Given the description of an element on the screen output the (x, y) to click on. 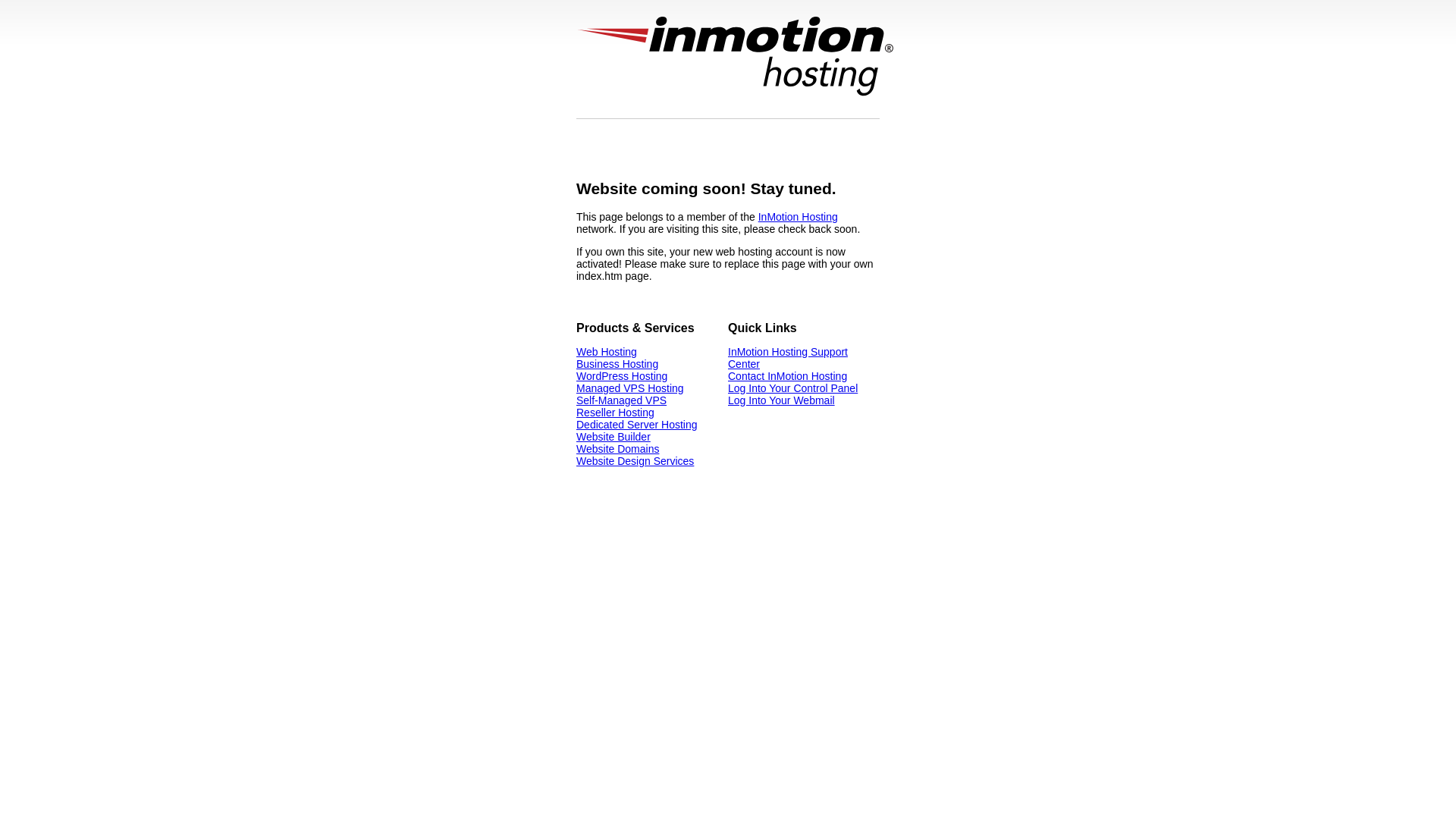
Website Builder Element type: text (613, 436)
Web Hosting Element type: text (606, 351)
Log Into Your Control Panel Element type: text (792, 388)
Log Into Your Webmail Element type: text (781, 400)
WordPress Hosting Element type: text (621, 376)
InMotion Hosting Support Center Element type: text (787, 357)
Contact InMotion Hosting Element type: text (787, 376)
Managed VPS Hosting Element type: text (630, 388)
Website Domains Element type: text (617, 448)
Website Design Services Element type: text (634, 461)
Business Hosting Element type: text (617, 363)
Dedicated Server Hosting Element type: text (636, 424)
Reseller Hosting Element type: text (615, 412)
Self-Managed VPS Element type: text (621, 400)
InMotion Hosting Element type: text (797, 216)
